Given the description of an element on the screen output the (x, y) to click on. 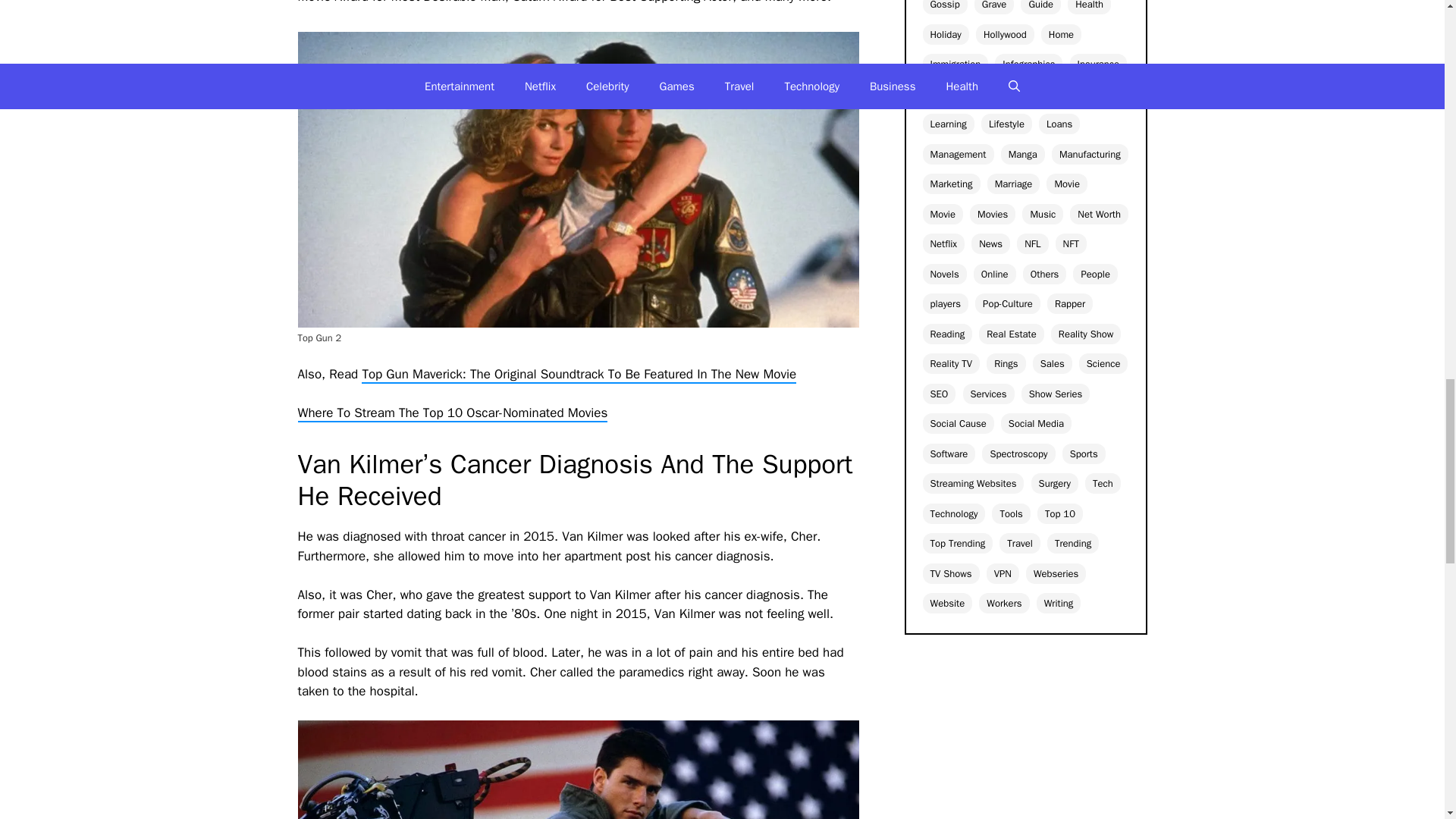
Where To Stream The Top 10 Oscar-Nominated Movies (452, 413)
